Given the description of an element on the screen output the (x, y) to click on. 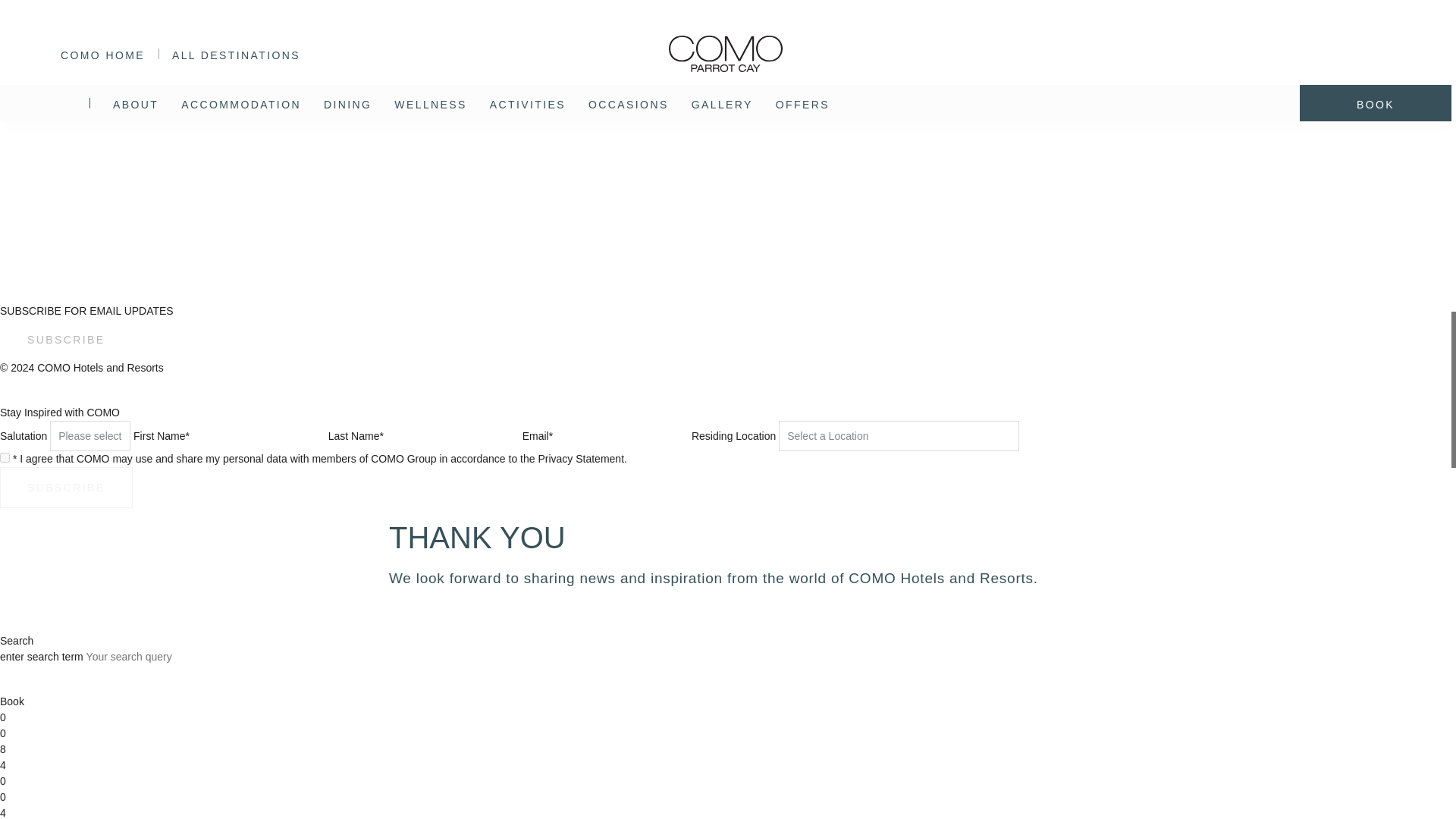
true (5, 457)
